Given the description of an element on the screen output the (x, y) to click on. 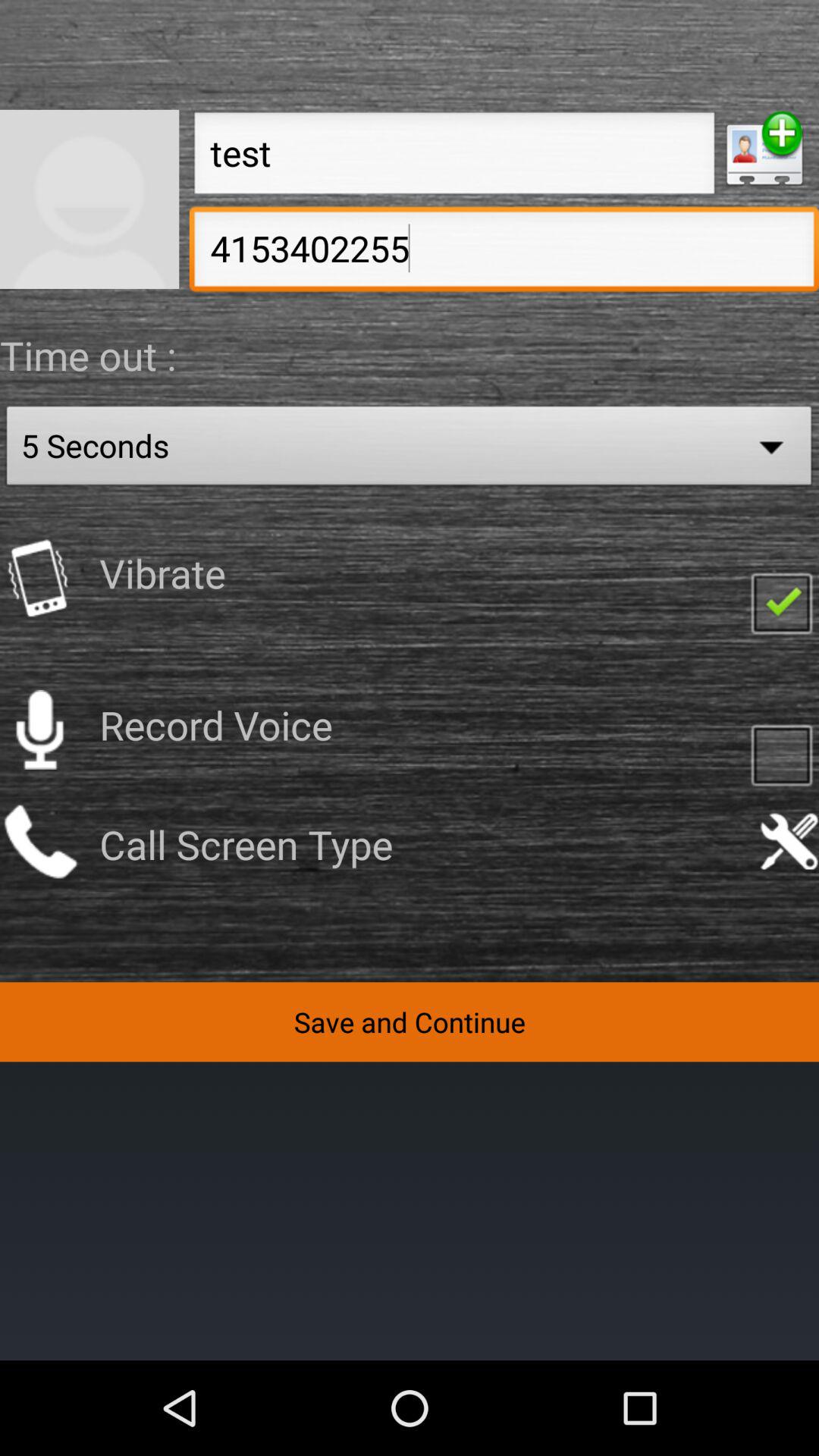
shows add option (764, 149)
